Given the description of an element on the screen output the (x, y) to click on. 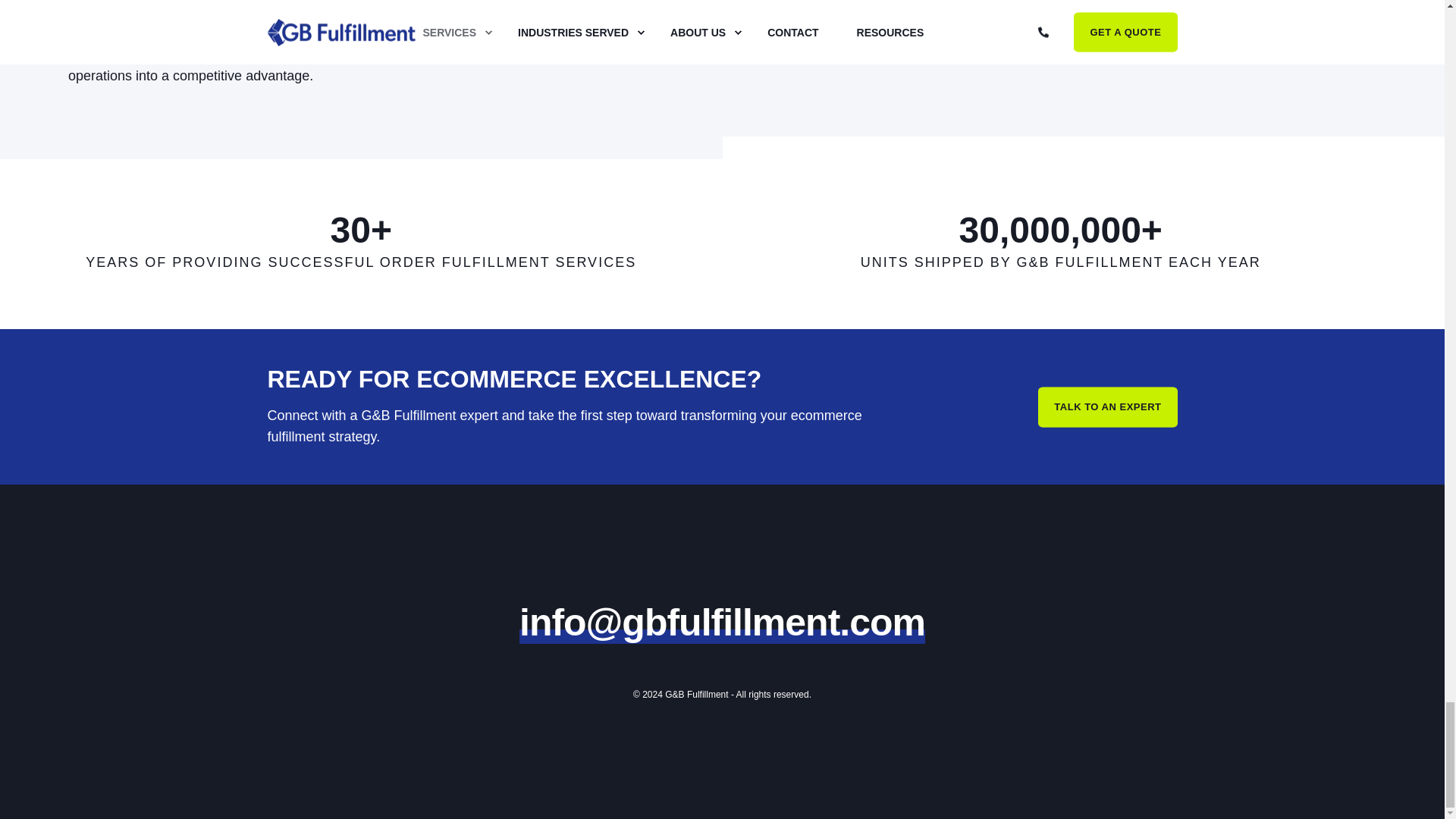
Talk to an Expert (1107, 406)
